Given the description of an element on the screen output the (x, y) to click on. 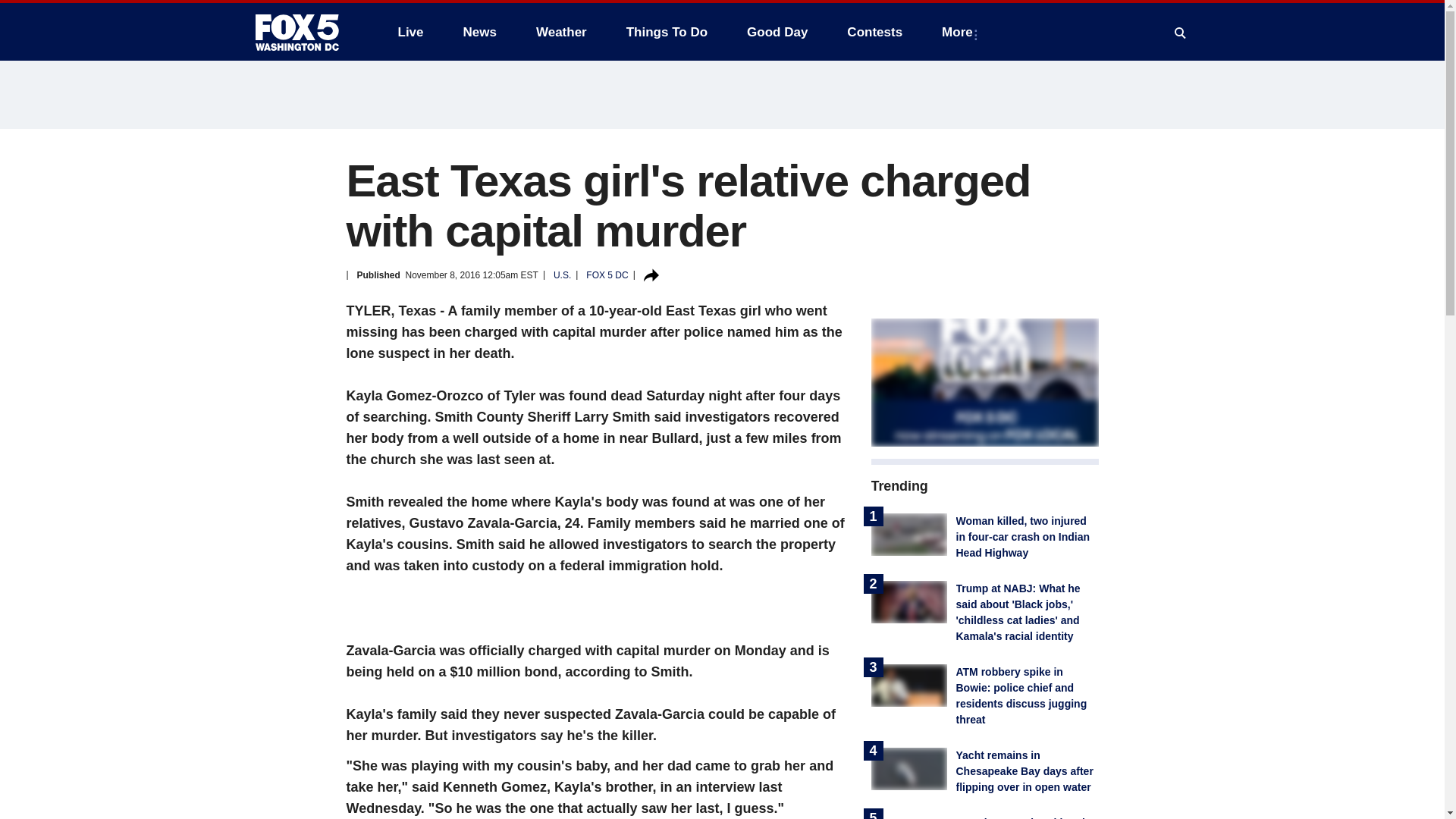
Live (410, 32)
Good Day (777, 32)
More (960, 32)
Things To Do (666, 32)
News (479, 32)
Contests (874, 32)
Weather (561, 32)
